Given the description of an element on the screen output the (x, y) to click on. 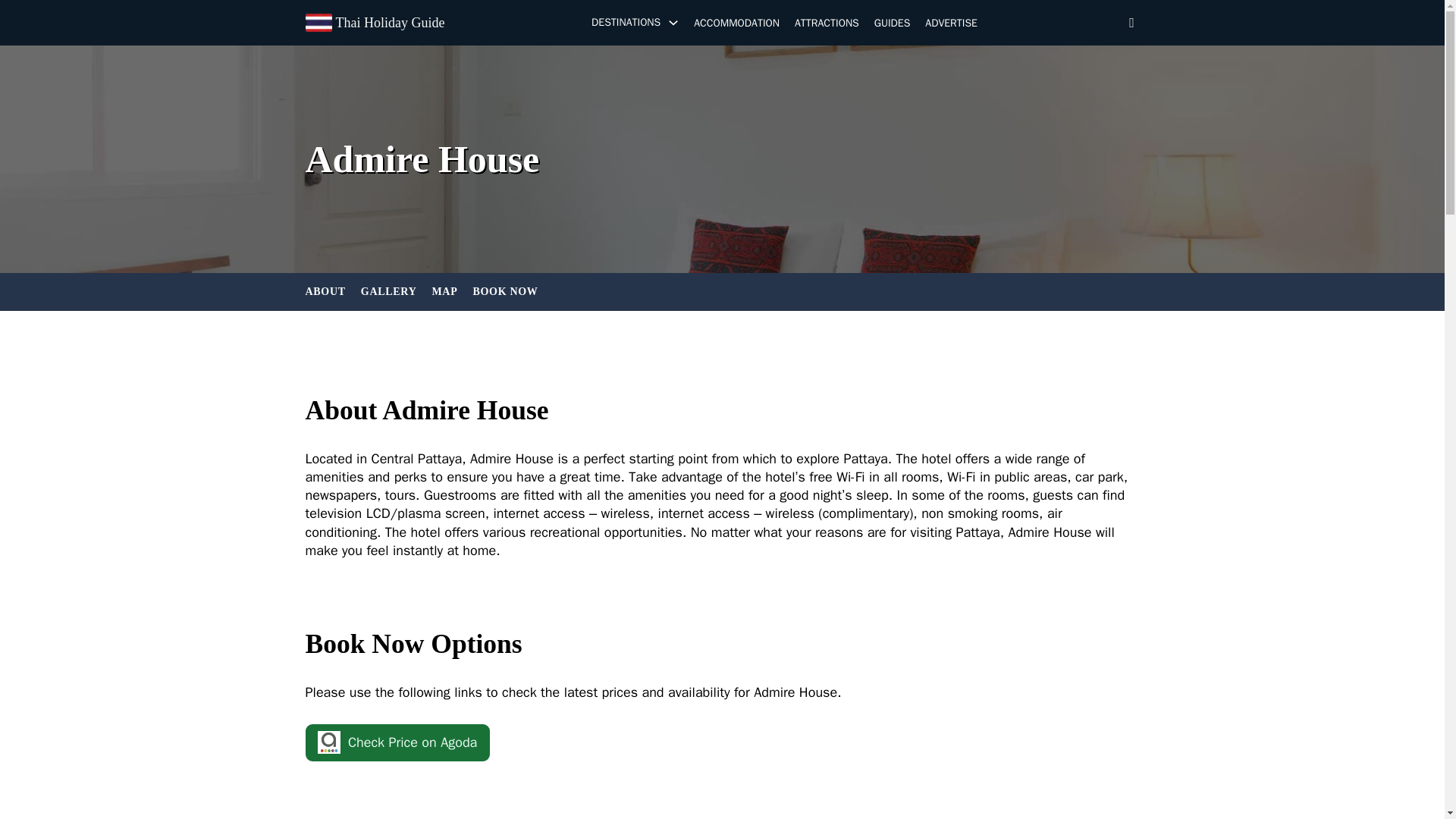
ABOUT (324, 291)
ACCOMMODATION (736, 23)
ATTRACTIONS (826, 23)
ADVERTISE (950, 23)
Thai Holiday Guide (389, 22)
GUIDES (893, 23)
